Given the description of an element on the screen output the (x, y) to click on. 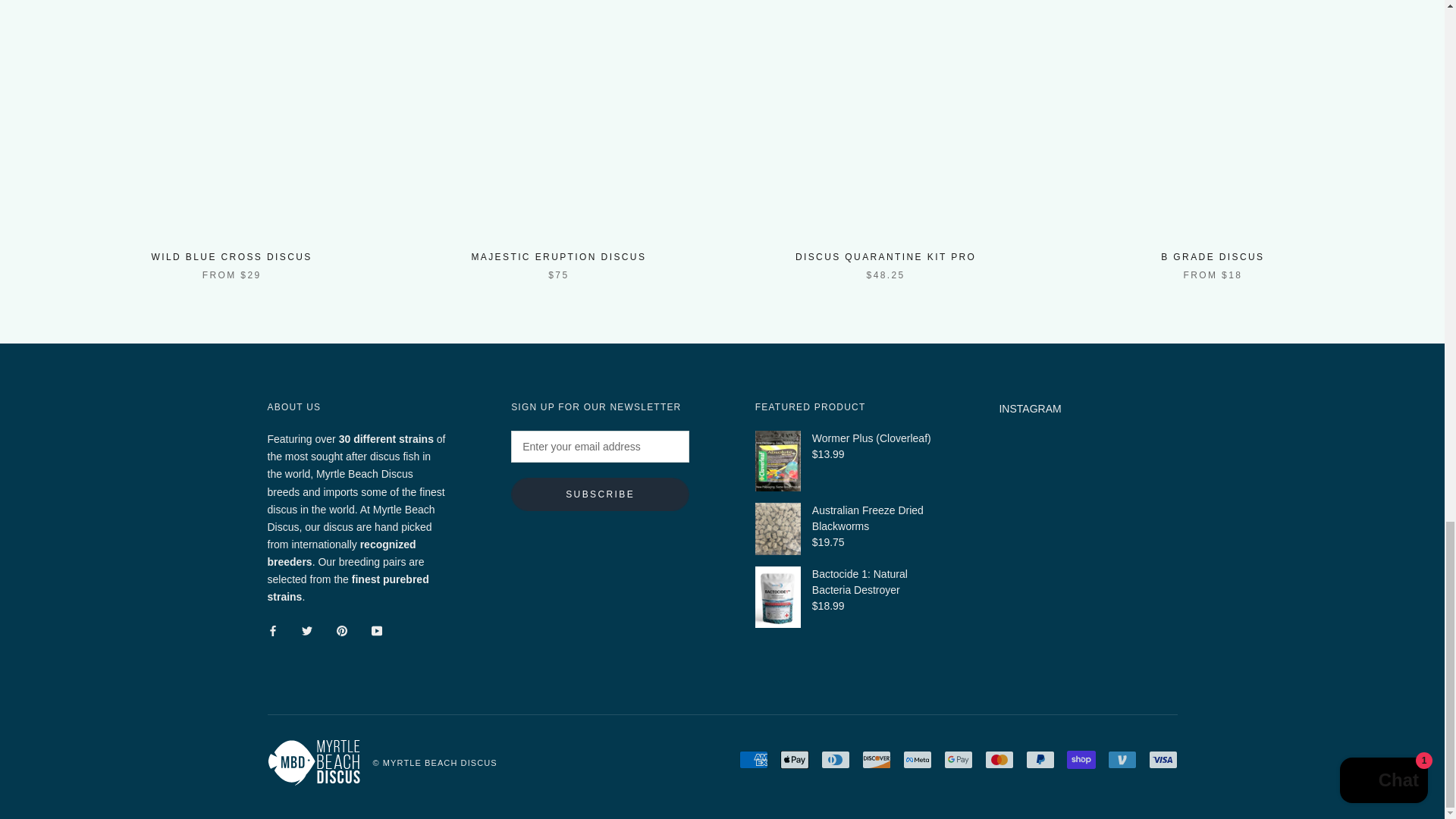
Google Pay (957, 760)
American Express (752, 760)
Diners Club (834, 760)
Discover (875, 760)
Apple Pay (793, 760)
Meta Pay (916, 760)
